Given the description of an element on the screen output the (x, y) to click on. 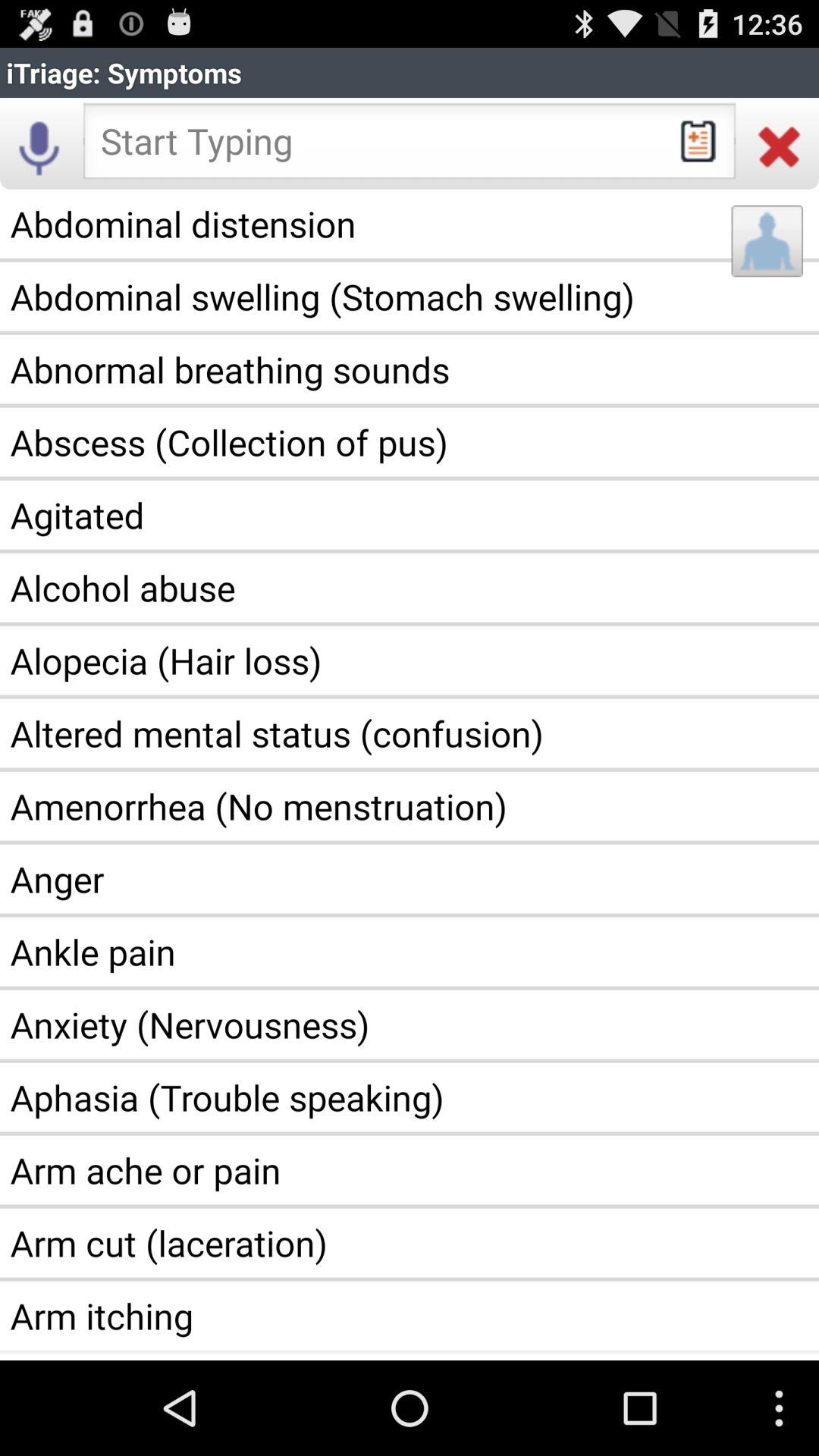
jump until the abdominal swelling stomach app (409, 296)
